Given the description of an element on the screen output the (x, y) to click on. 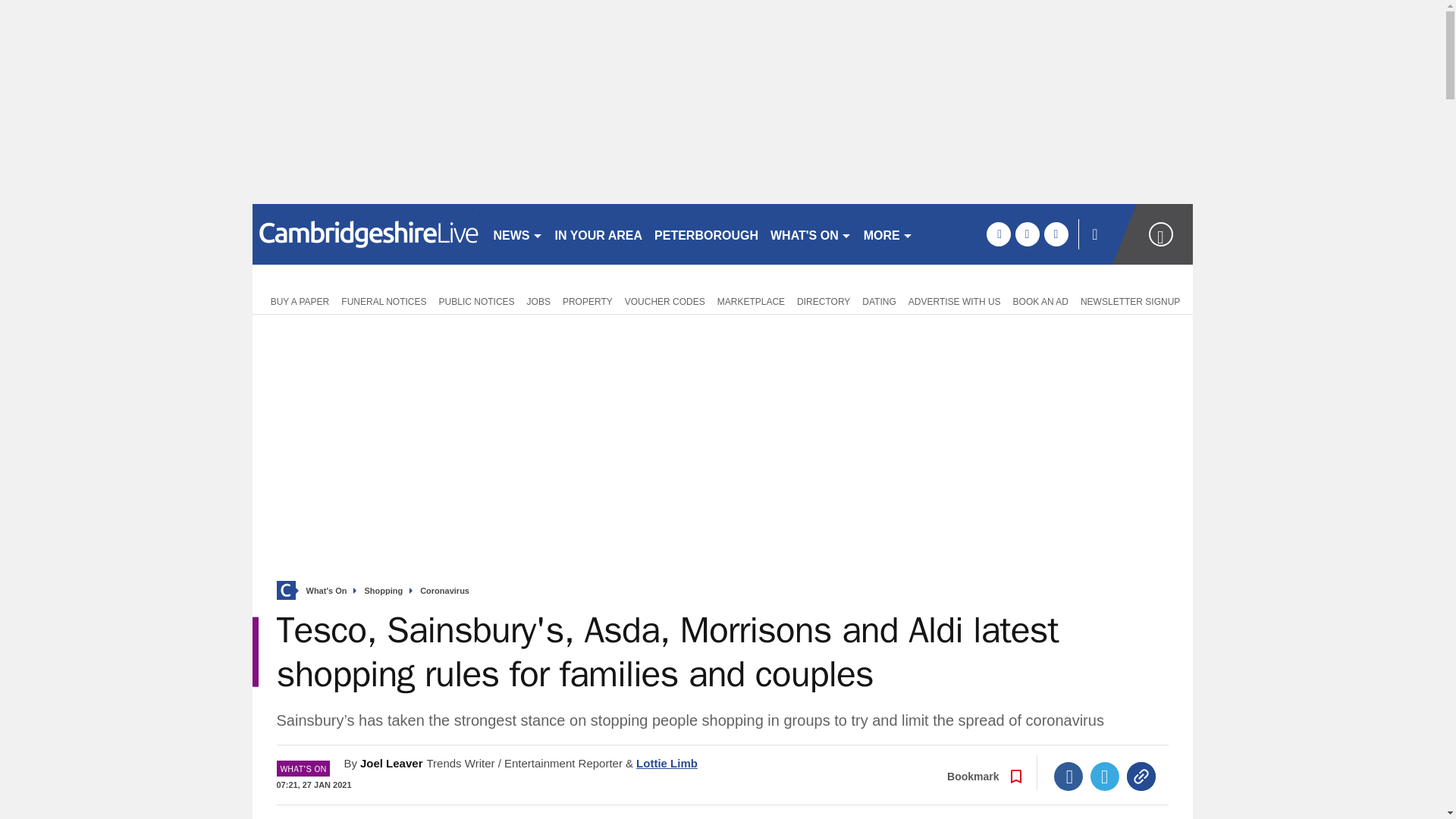
twitter (1026, 233)
IN YOUR AREA (598, 233)
PETERBOROUGH (705, 233)
WHAT'S ON (810, 233)
instagram (1055, 233)
Facebook (1068, 776)
NEWS (517, 233)
Twitter (1104, 776)
MORE (887, 233)
cambridgenews (365, 233)
